Given the description of an element on the screen output the (x, y) to click on. 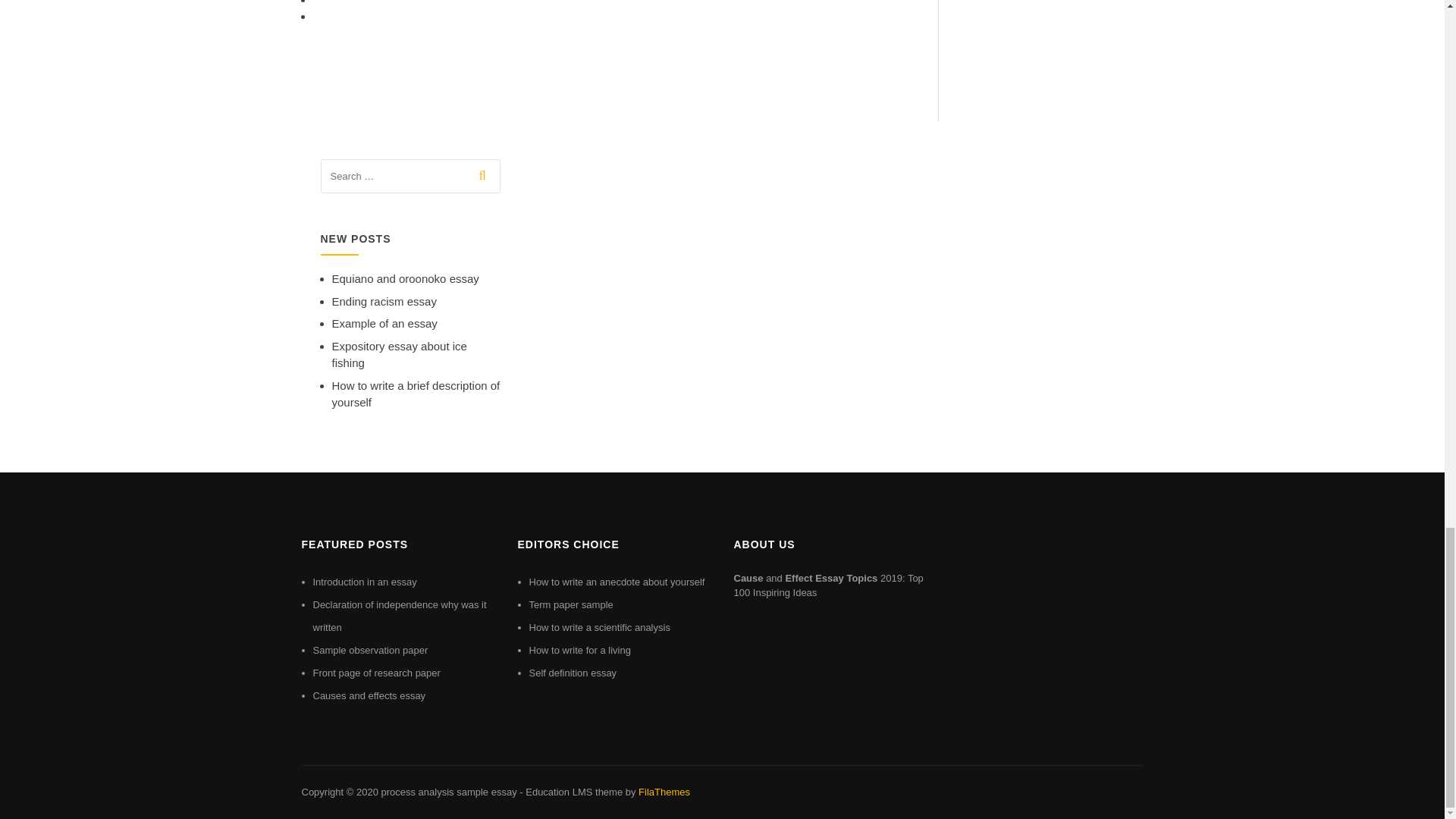
process analysis sample essay (448, 791)
Sample observation paper (370, 650)
Causes and effects essay (369, 695)
Term paper sample (570, 604)
Expository essay about ice fishing (399, 354)
Front page of research paper (376, 672)
Ending racism essay (383, 300)
Declaration of independence why was it written (399, 615)
How to write for a living (579, 650)
Example of an essay (384, 323)
Equiano and oroonoko essay (405, 278)
How to write a brief description of yourself (415, 394)
Self definition essay (573, 672)
Introduction in an essay (364, 582)
How to write an anecdote about yourself (616, 582)
